Given the description of an element on the screen output the (x, y) to click on. 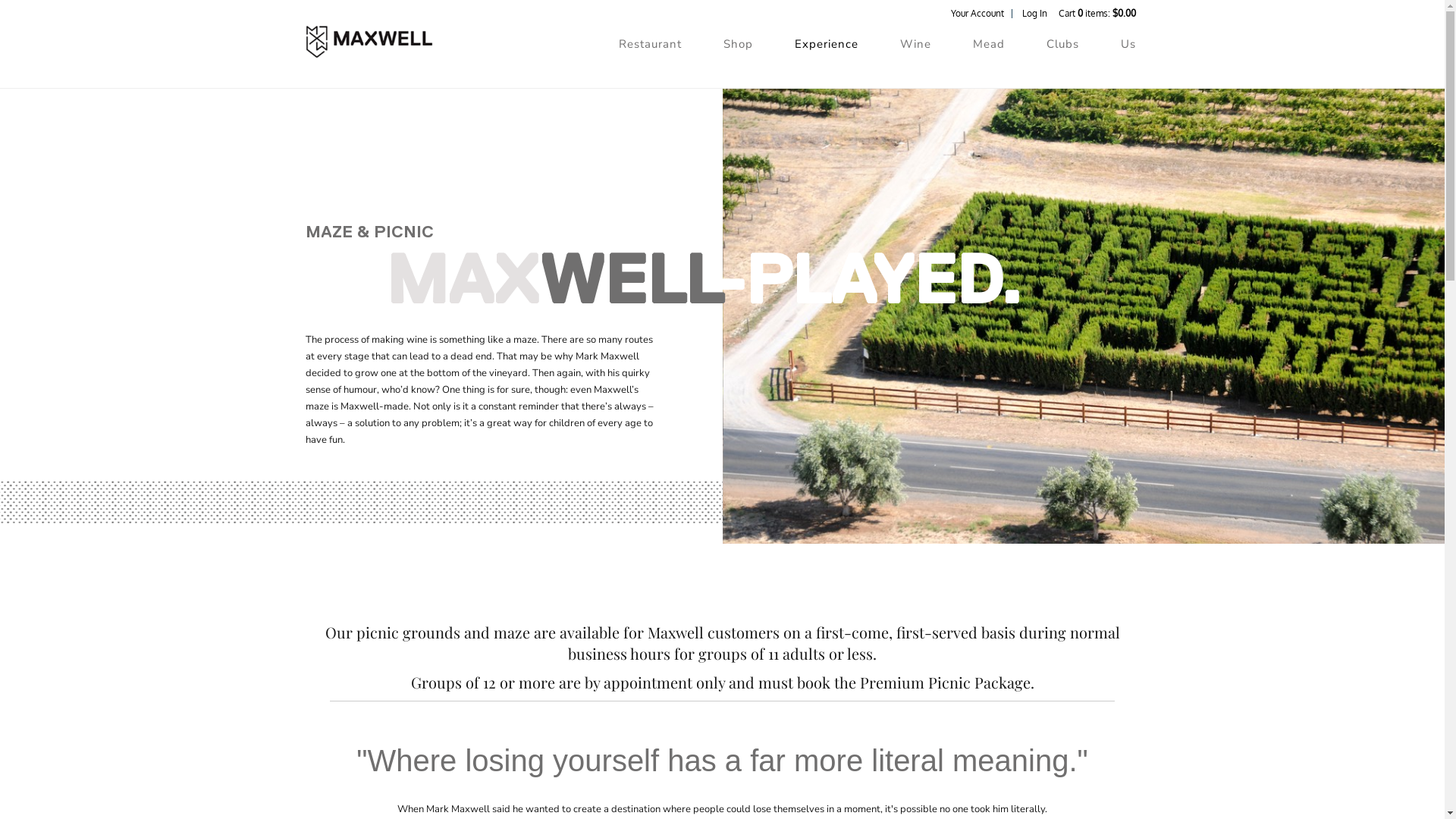
Experience Element type: text (826, 44)
Restaurant Element type: text (649, 44)
Wine Element type: text (914, 44)
Mead Element type: text (988, 44)
Cart 0 items: $0.00 Element type: text (1096, 12)
Us Element type: text (1127, 44)
Shop Element type: text (738, 44)
Maxwell Wines Home Element type: text (368, 45)
Clubs Element type: text (1062, 44)
Log In Element type: text (1034, 12)
Your Account Element type: text (977, 12)
